Given the description of an element on the screen output the (x, y) to click on. 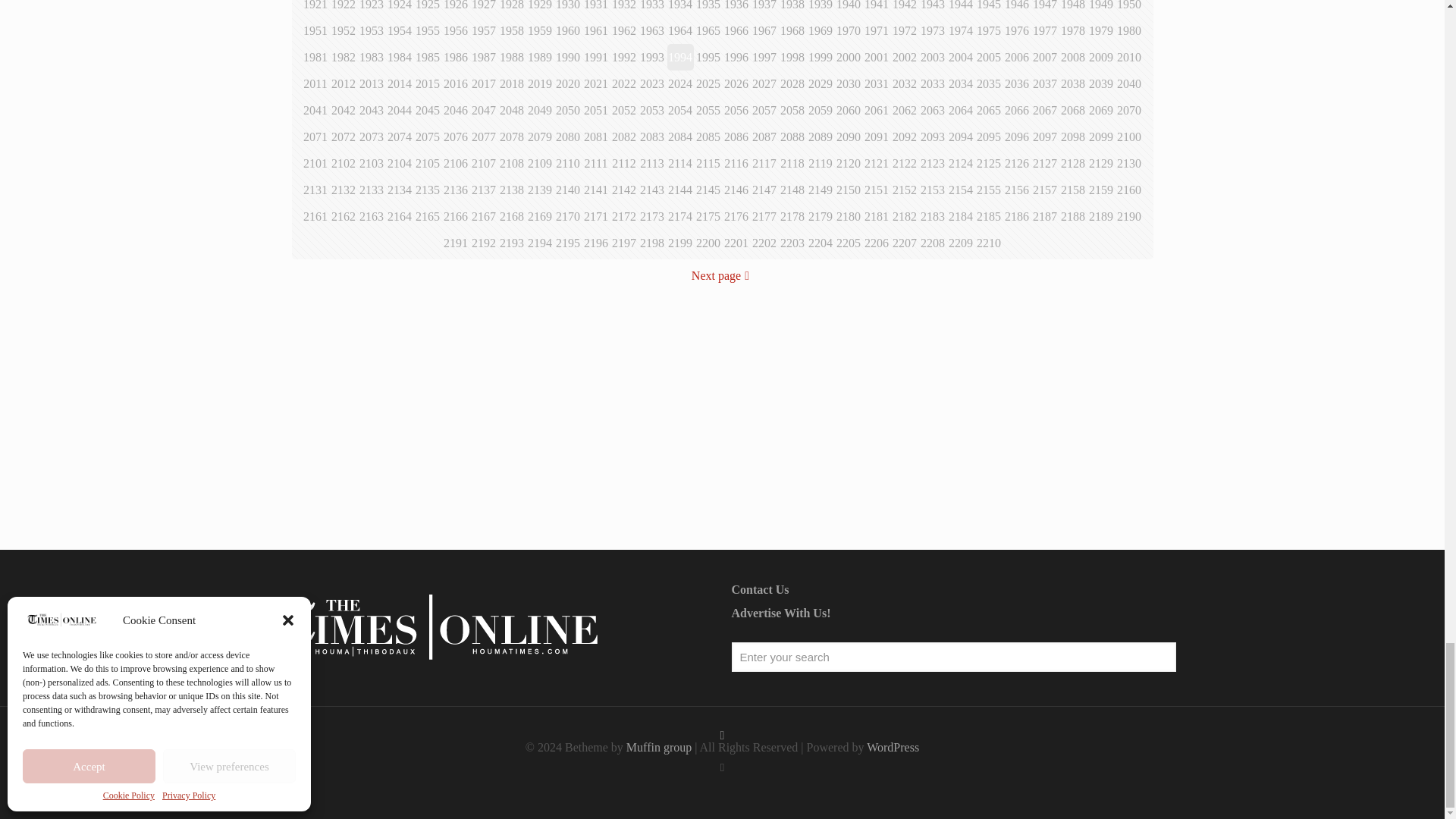
Facebook (722, 767)
